Given the description of an element on the screen output the (x, y) to click on. 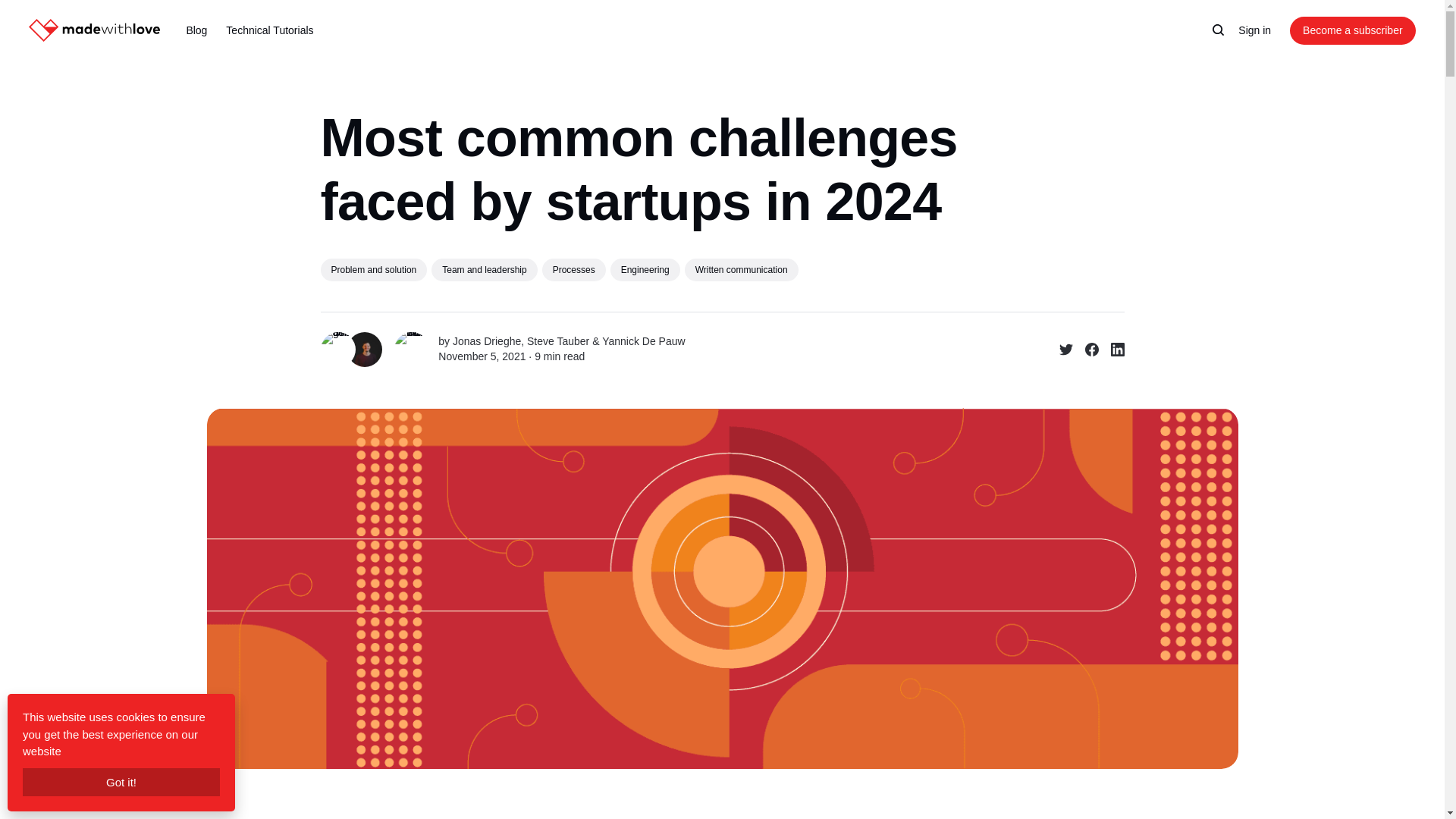
Jonas Drieghe (486, 340)
Blog (196, 30)
Sign in (1255, 30)
Team and leadership (483, 269)
Yannick De Pauw (643, 340)
Written communication (740, 269)
Problem and solution (373, 269)
Become a subscriber (1352, 30)
Technical Tutorials (269, 30)
Engineering (644, 269)
